Given the description of an element on the screen output the (x, y) to click on. 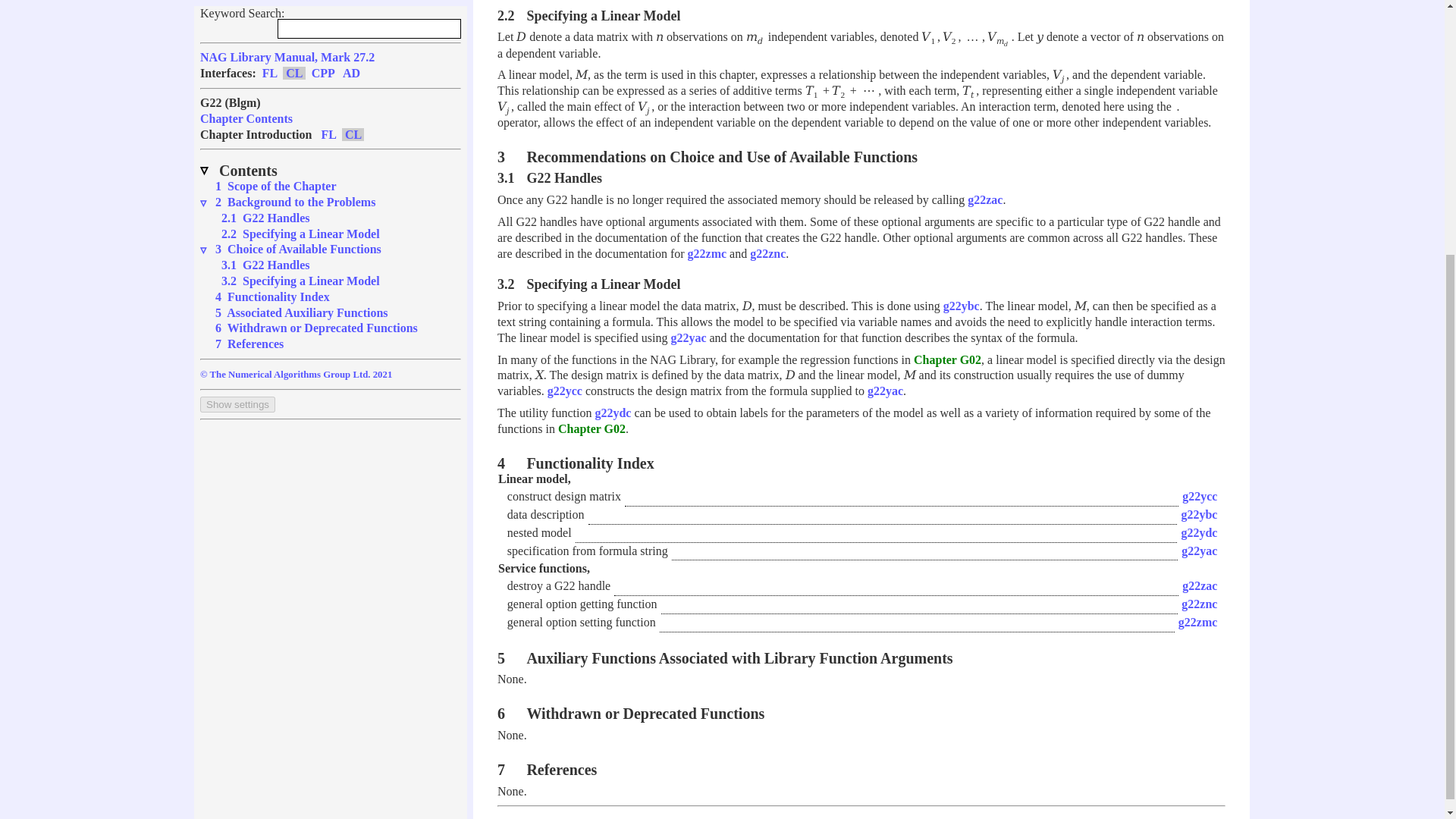
g22ycc (564, 390)
g22zmc (706, 253)
g22yac (687, 337)
Show settings (237, 37)
